Given the description of an element on the screen output the (x, y) to click on. 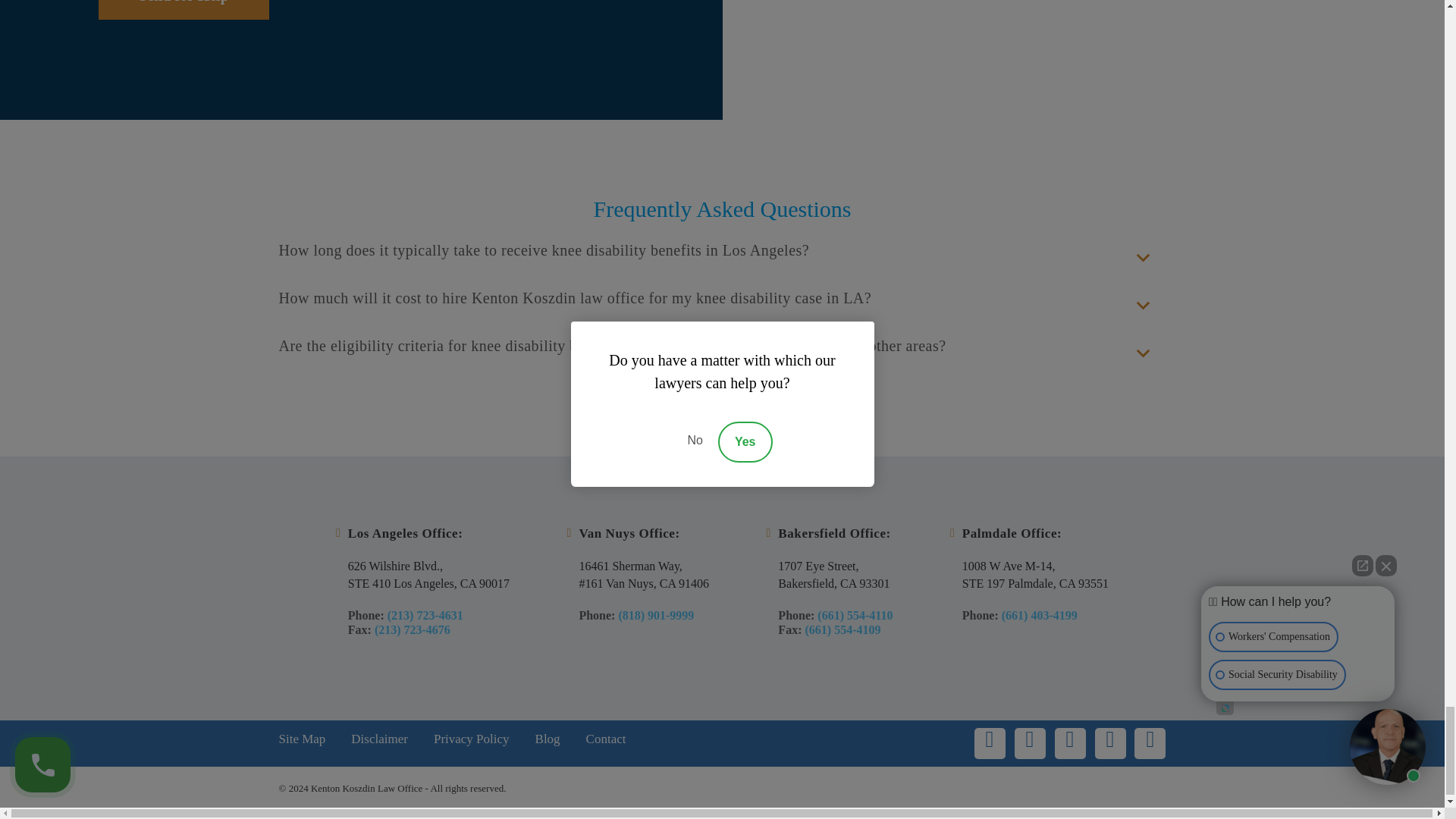
Send for Help (184, 9)
